Given the description of an element on the screen output the (x, y) to click on. 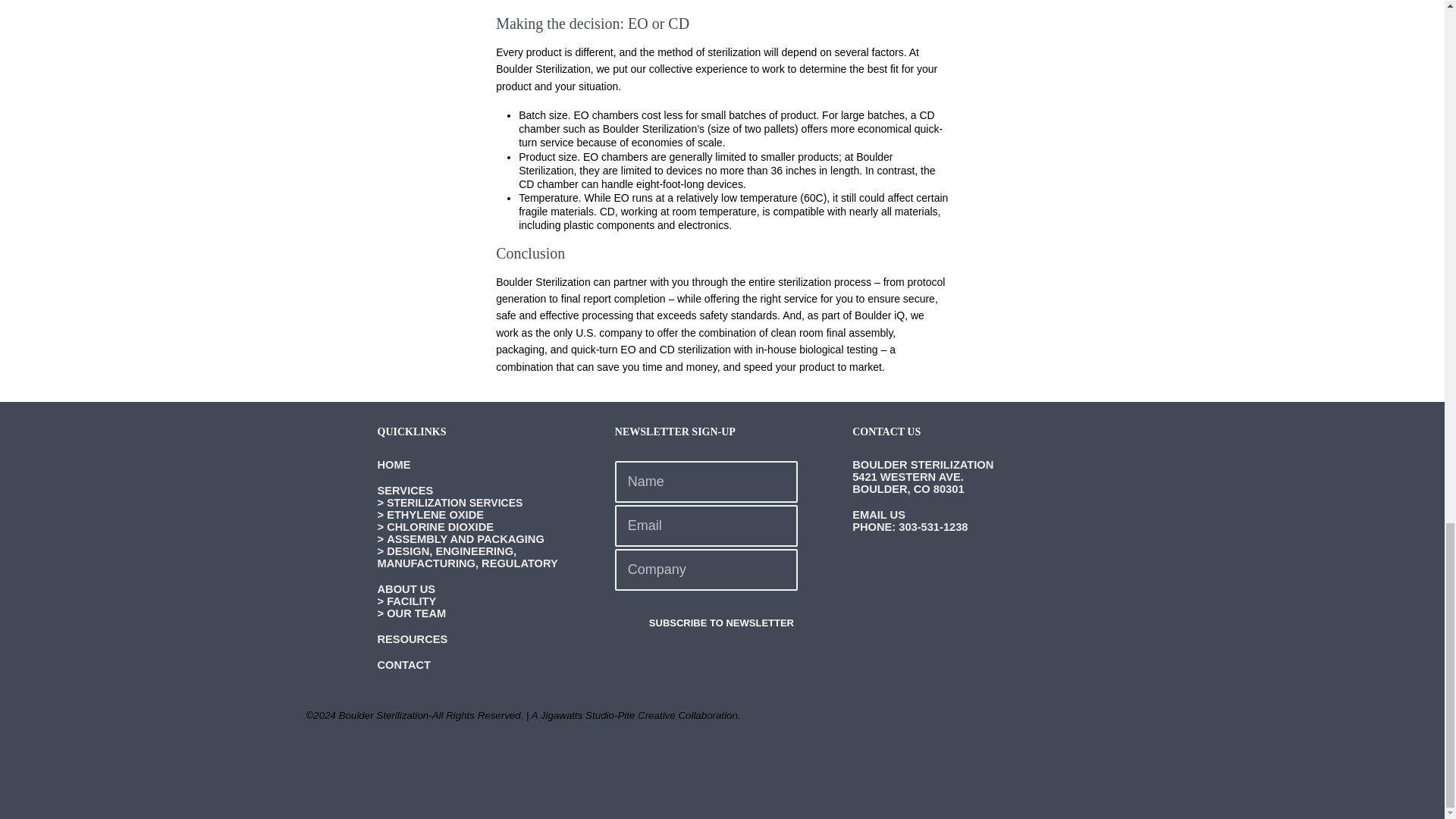
HOME (393, 464)
RESOURCES (412, 639)
ASSEMBLY AND PACKAGING (465, 539)
Subscribe to Newsletter (705, 622)
ETHYLENE OXIDE (435, 514)
STERILIZATION SERVICES (454, 502)
CONTACT (403, 664)
DESIGN, ENGINEERING, MANUFACTURING, REGULATORY (467, 557)
OUR TEAM (416, 613)
FACILITY (411, 601)
CHLORINE DIOXIDE (440, 526)
